Given the description of an element on the screen output the (x, y) to click on. 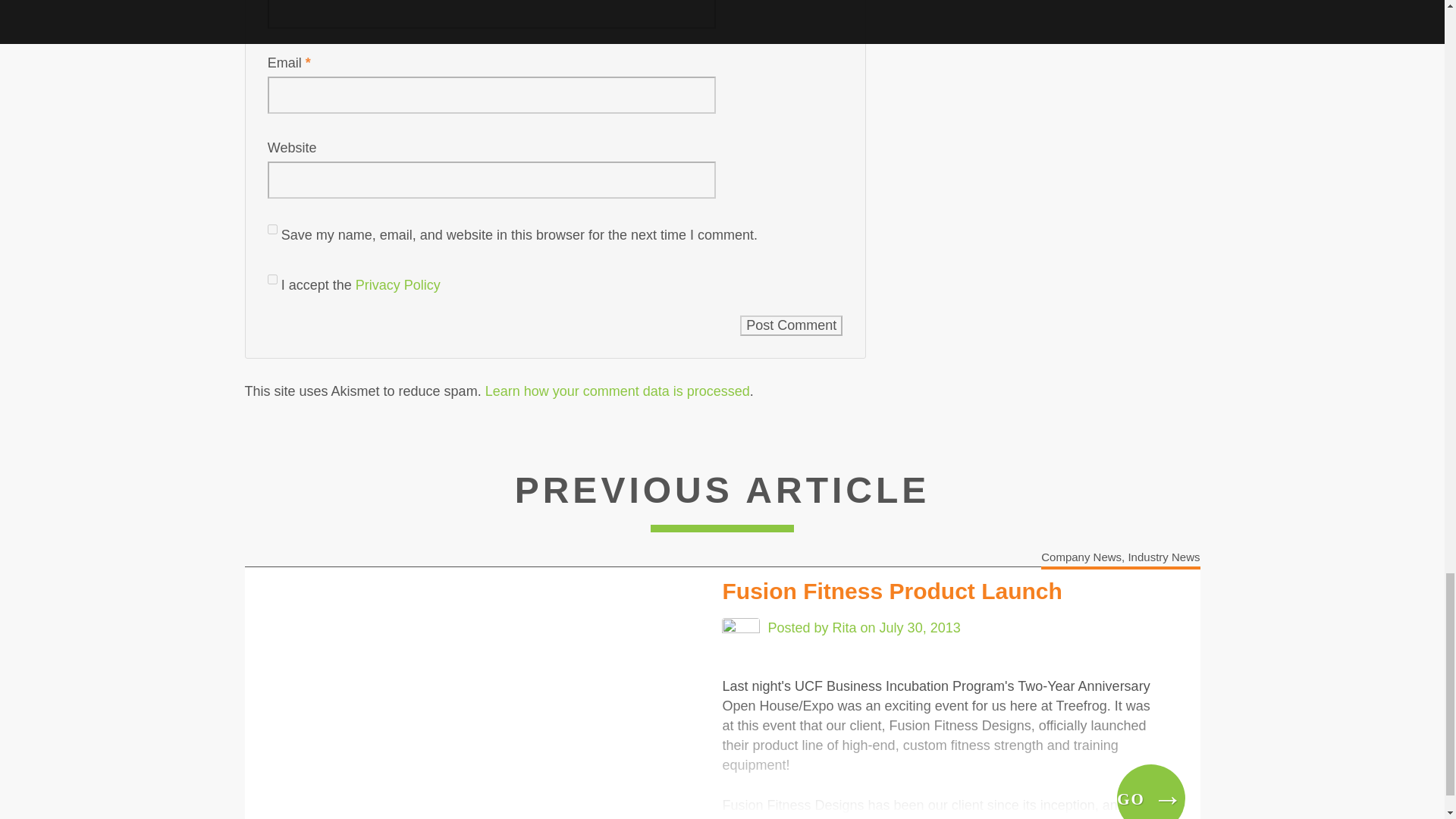
Post Comment (791, 325)
Privacy Policy (398, 284)
Post Comment (791, 325)
Learn how your comment data is processed (616, 391)
